Given the description of an element on the screen output the (x, y) to click on. 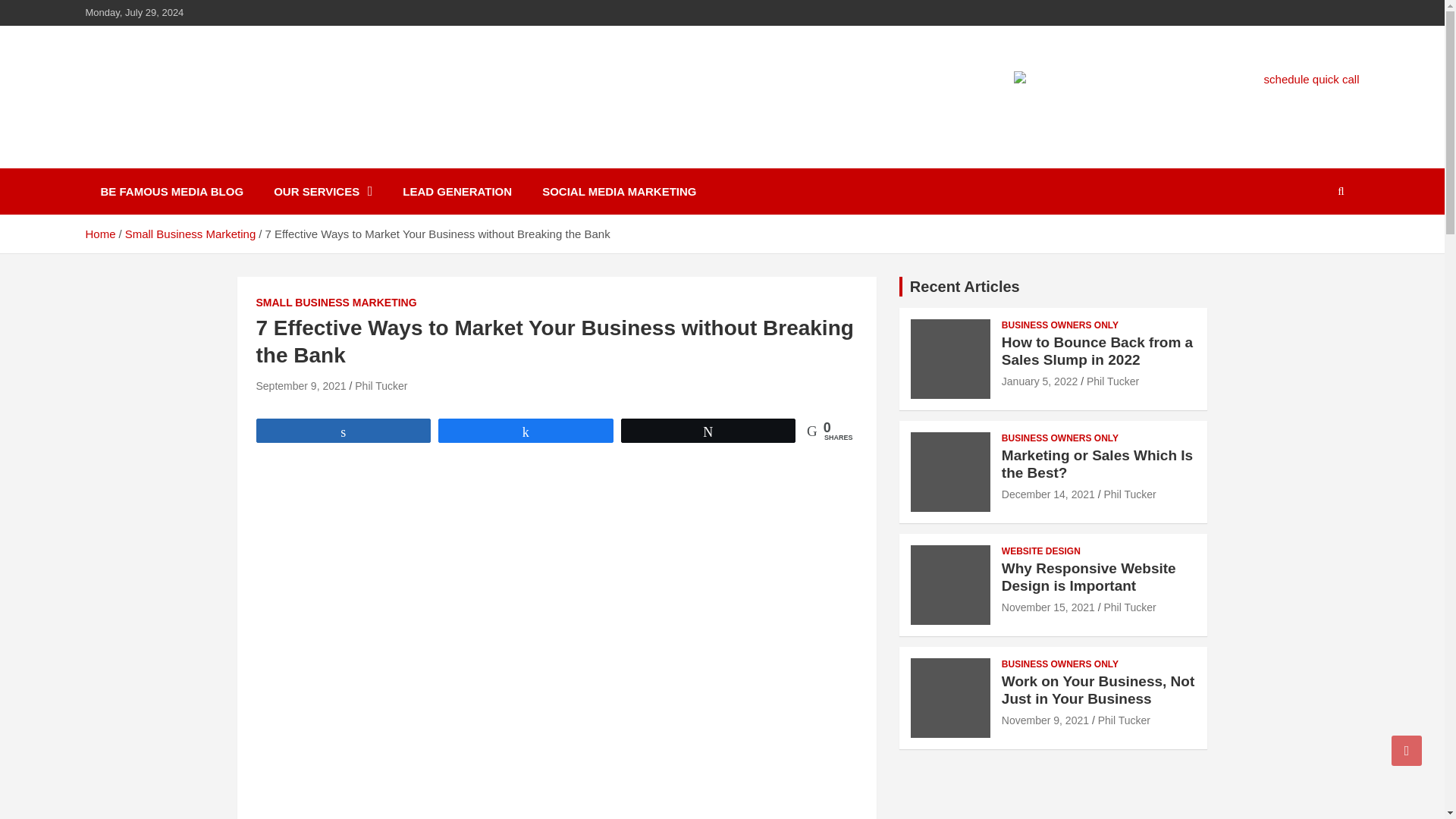
September 9, 2021 (301, 386)
How to Bounce Back from a Sales Slump in 2022 (1096, 350)
SOCIAL MEDIA MARKETING (619, 191)
LEAD GENERATION (457, 191)
Go to Top (1406, 750)
WEBSITE DESIGN (1040, 551)
Work on Your Business, Not Just in Your Business (1045, 720)
Phil Tucker (1112, 381)
Home (99, 233)
How to Bounce Back from a Sales Slump in 2022 (1039, 381)
Marketing or Sales Which Is the Best? (1096, 463)
December 14, 2021 (1047, 494)
Phil Tucker (1129, 494)
OUR SERVICES (323, 191)
Phil Tucker (381, 386)
